Given the description of an element on the screen output the (x, y) to click on. 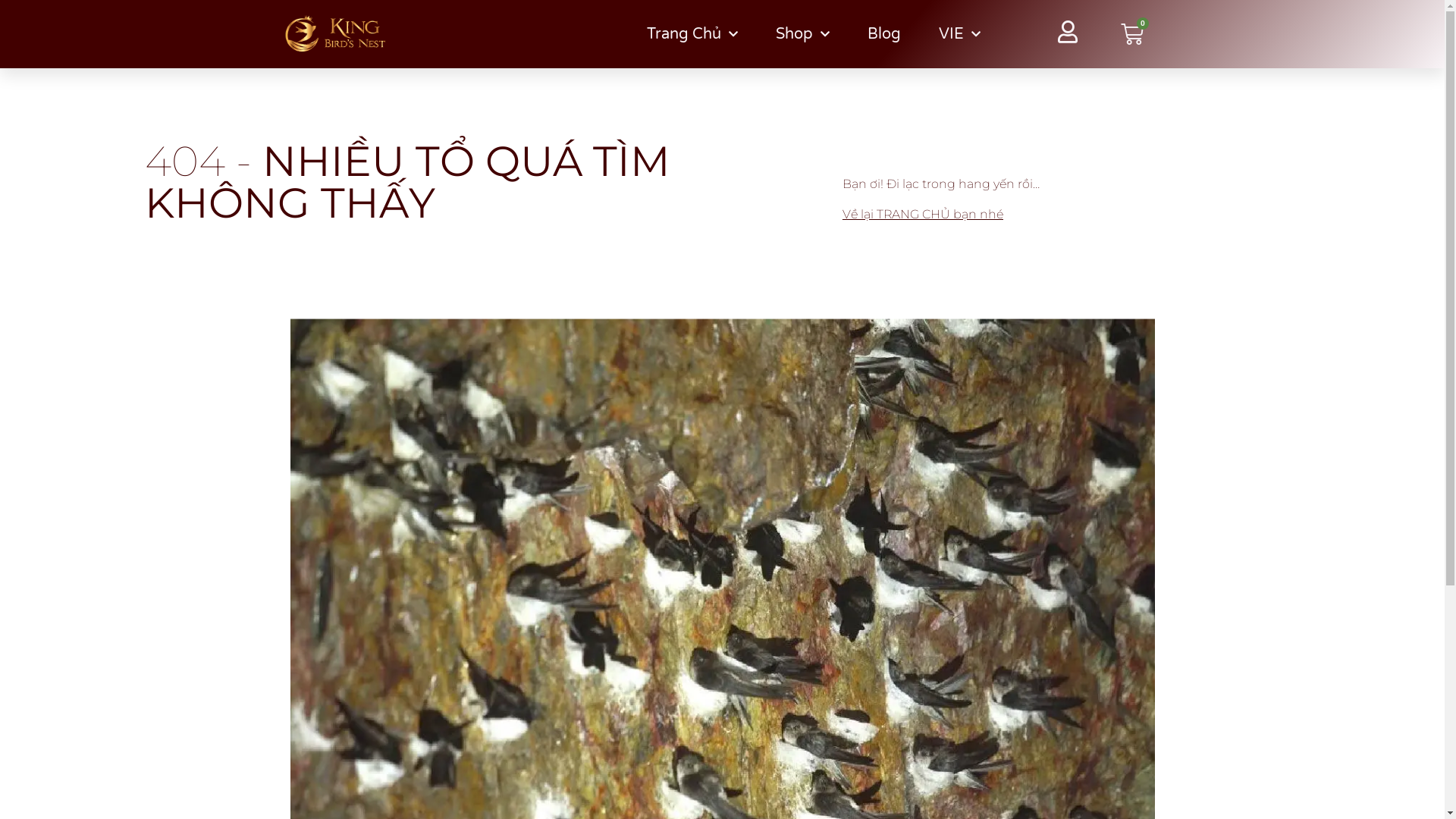
0 Element type: text (1131, 33)
Shop Element type: text (801, 34)
Blog Element type: text (883, 34)
VIE Element type: text (959, 34)
